Given the description of an element on the screen output the (x, y) to click on. 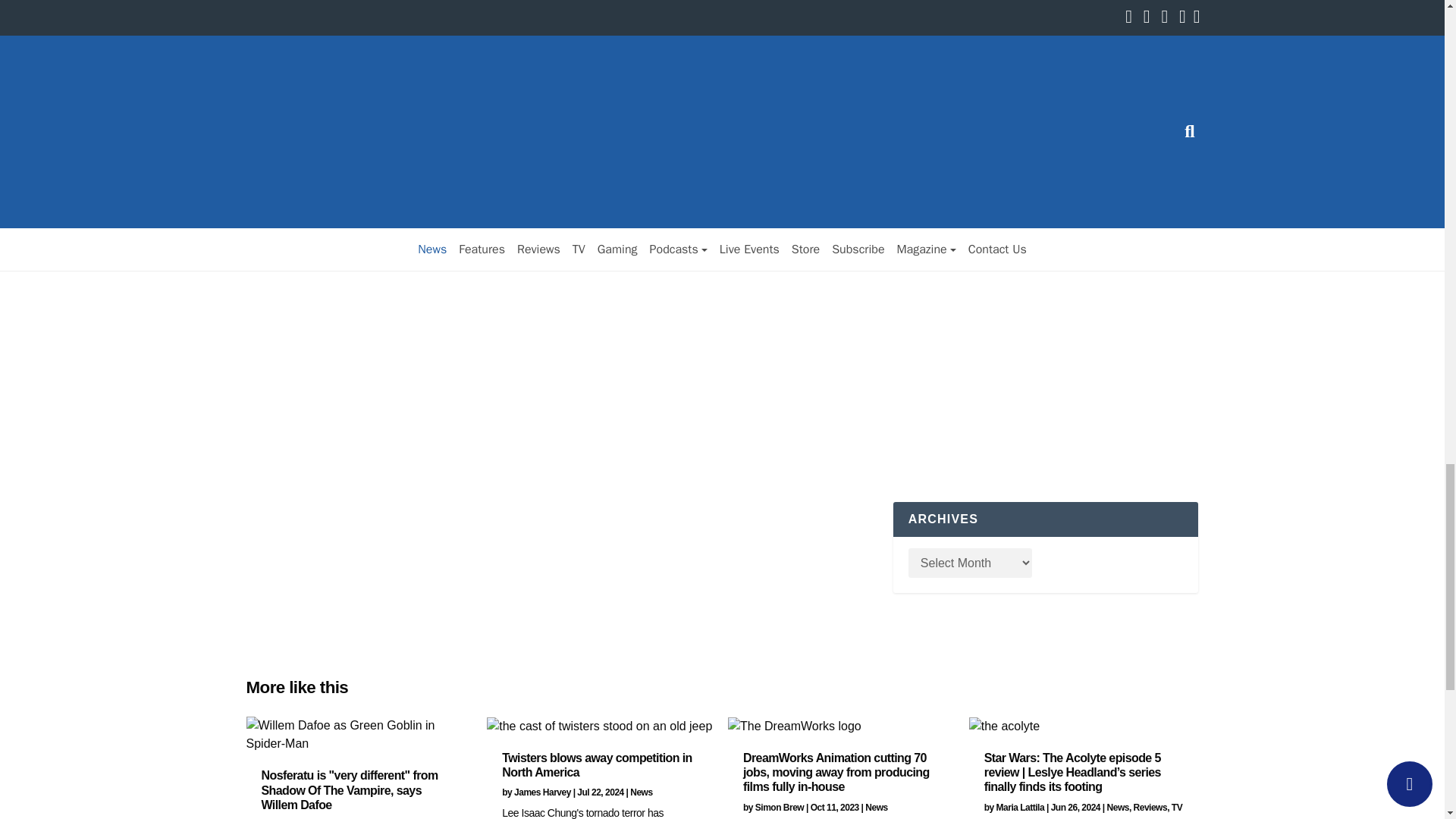
Subscribe (926, 66)
